Given the description of an element on the screen output the (x, y) to click on. 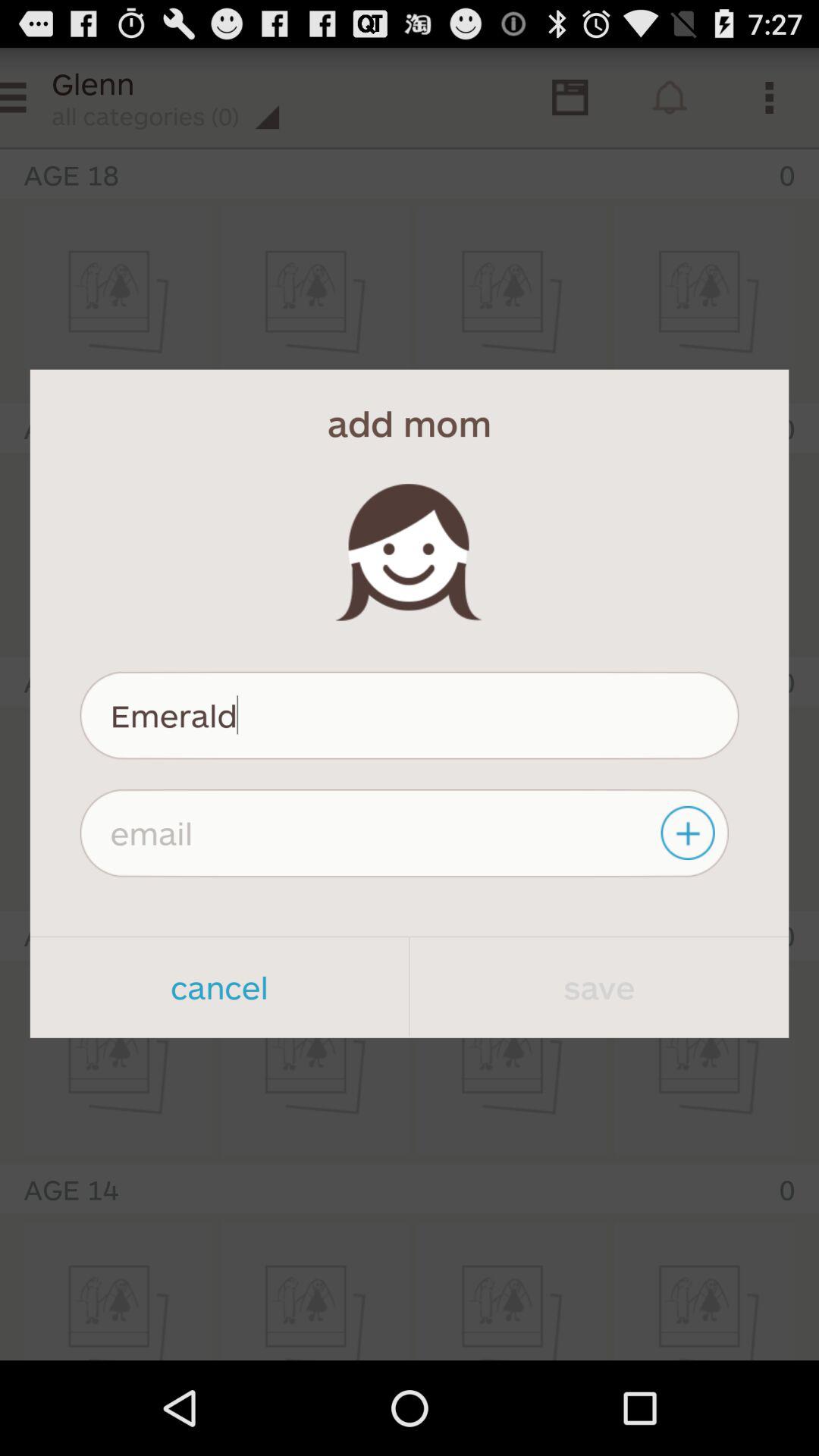
click item on the right (689, 832)
